Given the description of an element on the screen output the (x, y) to click on. 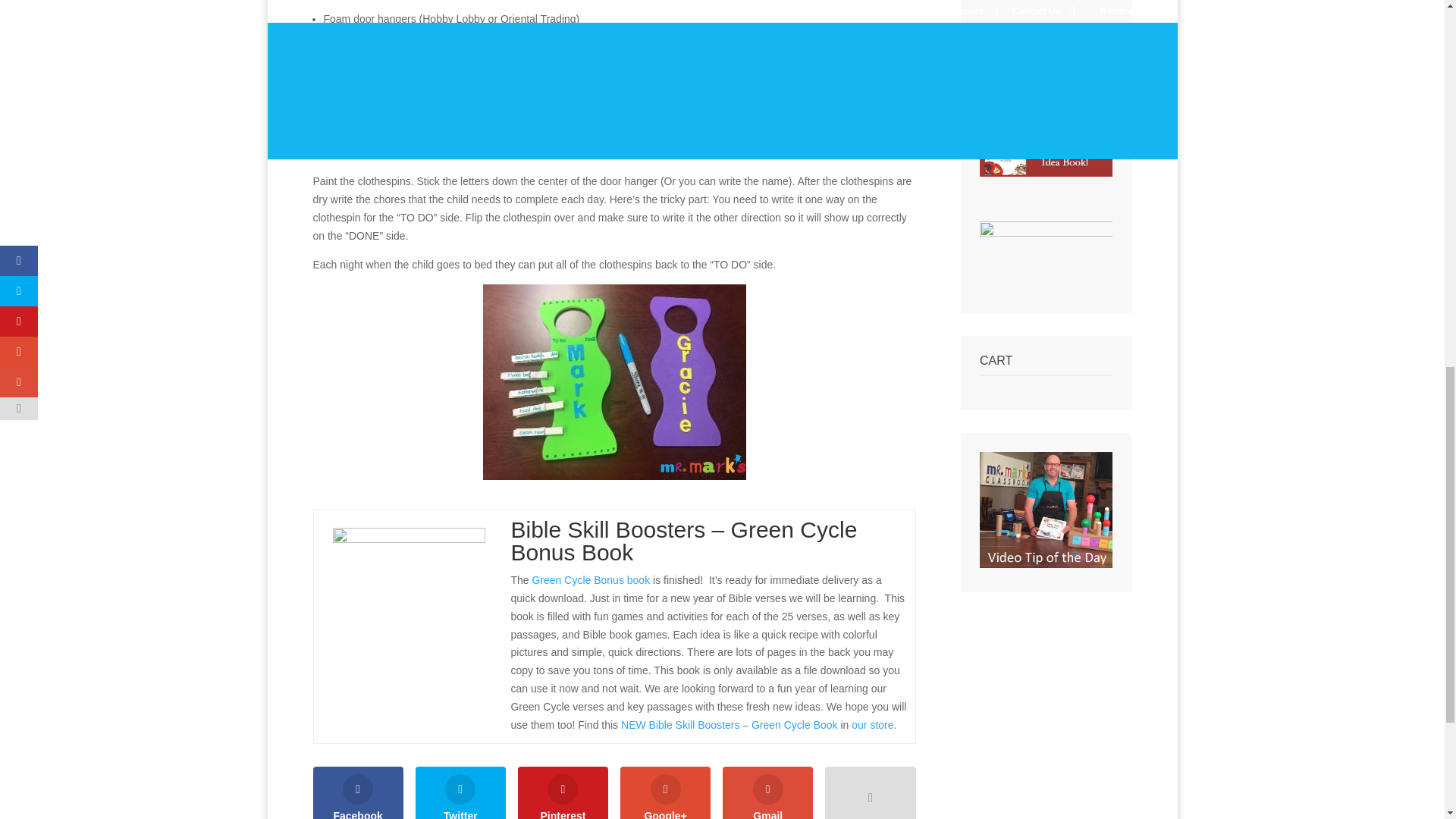
Twitter (459, 792)
Green Cycle Bonus book (591, 580)
Gmail (767, 792)
Facebook (358, 792)
Pinterest (563, 792)
our store. (873, 725)
